Given the description of an element on the screen output the (x, y) to click on. 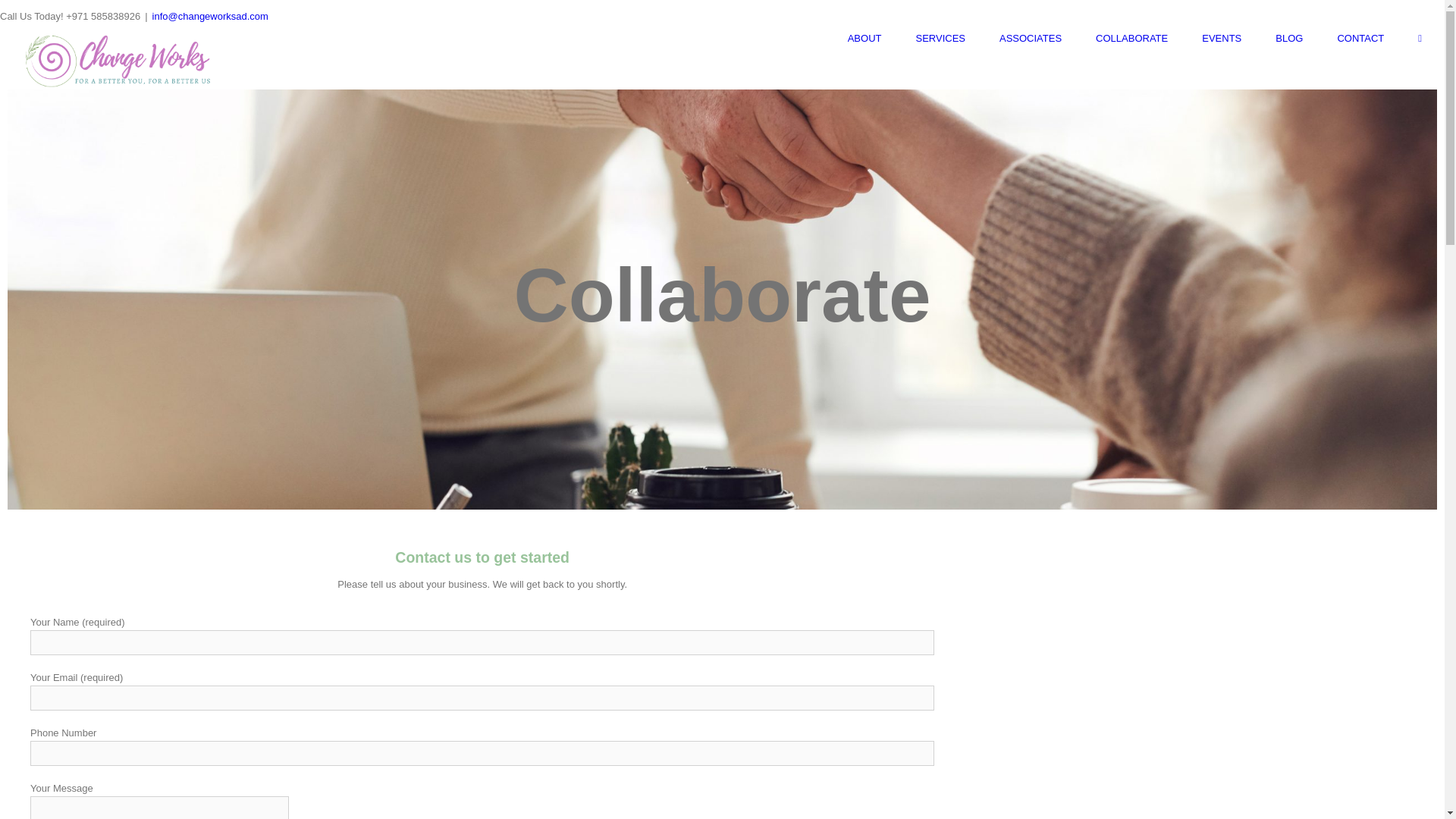
BLOG (1289, 38)
SERVICES (940, 38)
CONTACT (1360, 38)
COLLABORATE (1131, 38)
EVENTS (1221, 38)
ABOUT (864, 38)
ASSOCIATES (1029, 38)
